Given the description of an element on the screen output the (x, y) to click on. 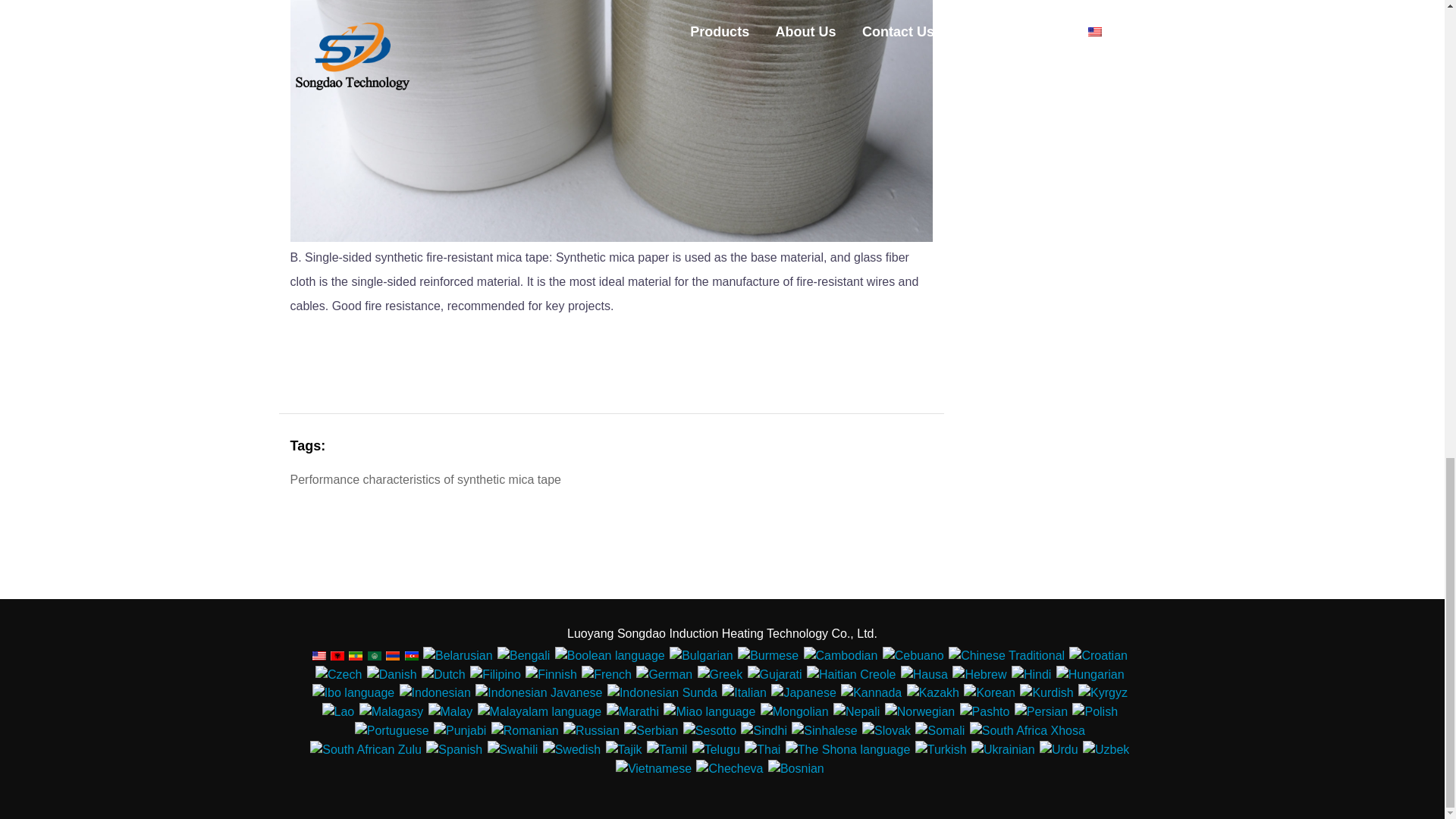
Bulgarian (701, 656)
Cambodian (840, 656)
Albanian (336, 655)
Azerbaijani (411, 655)
Arabic (374, 655)
Bengali (523, 656)
Armenian (391, 655)
Chinese Traditional (1006, 656)
Cebuano (912, 656)
Boolean language (609, 656)
